Given the description of an element on the screen output the (x, y) to click on. 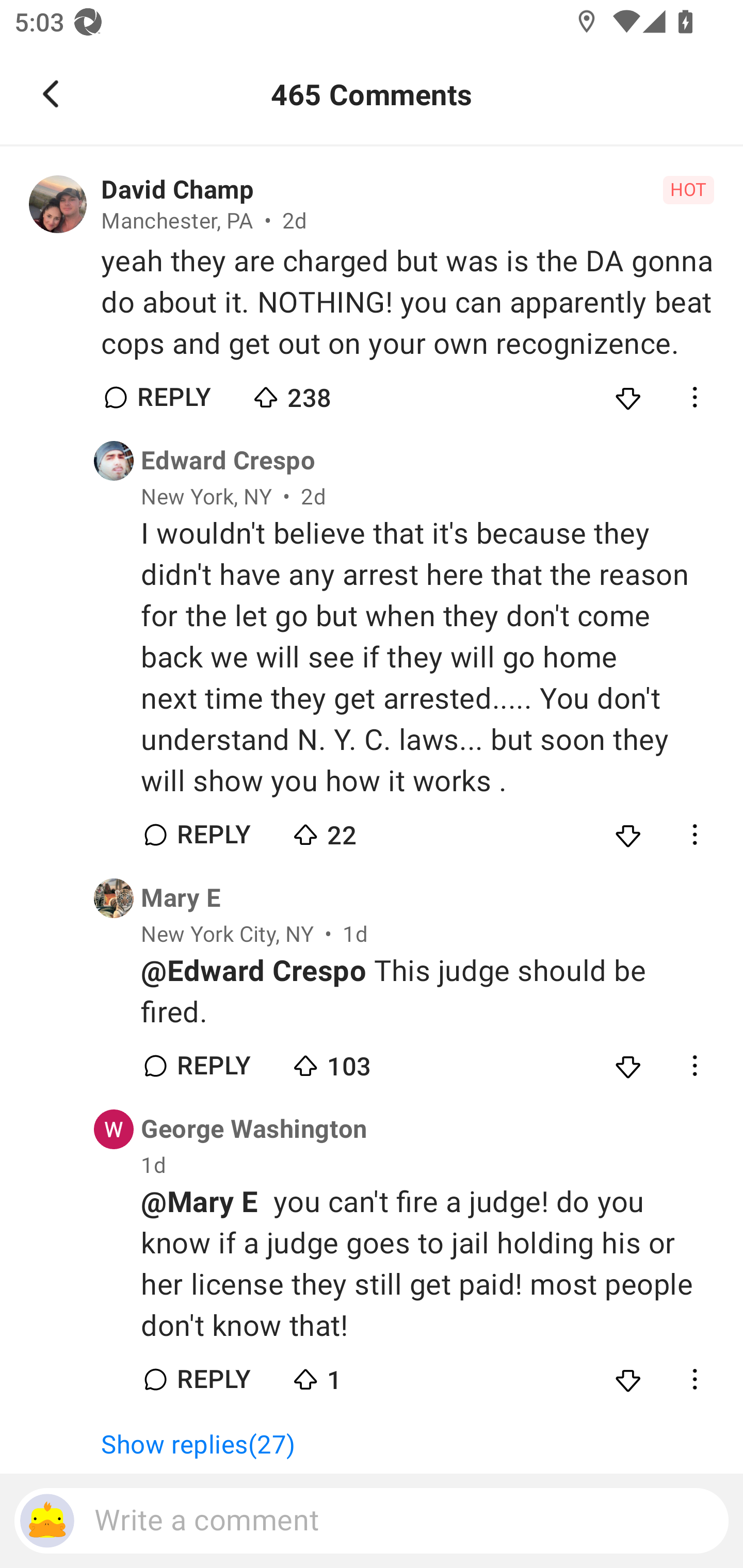
Navigate up (50, 93)
David Champ (177, 190)
238 (320, 392)
REPLY (173, 397)
Edward Crespo (228, 460)
22 (360, 830)
REPLY (213, 834)
Mary E (181, 897)
@Edward Crespo This judge should be fired.  (427, 992)
103 (360, 1061)
REPLY (213, 1065)
George Washington (254, 1129)
1 (360, 1374)
REPLY (213, 1379)
Show replies(27) (207, 1444)
Write a comment (371, 1520)
